Given the description of an element on the screen output the (x, y) to click on. 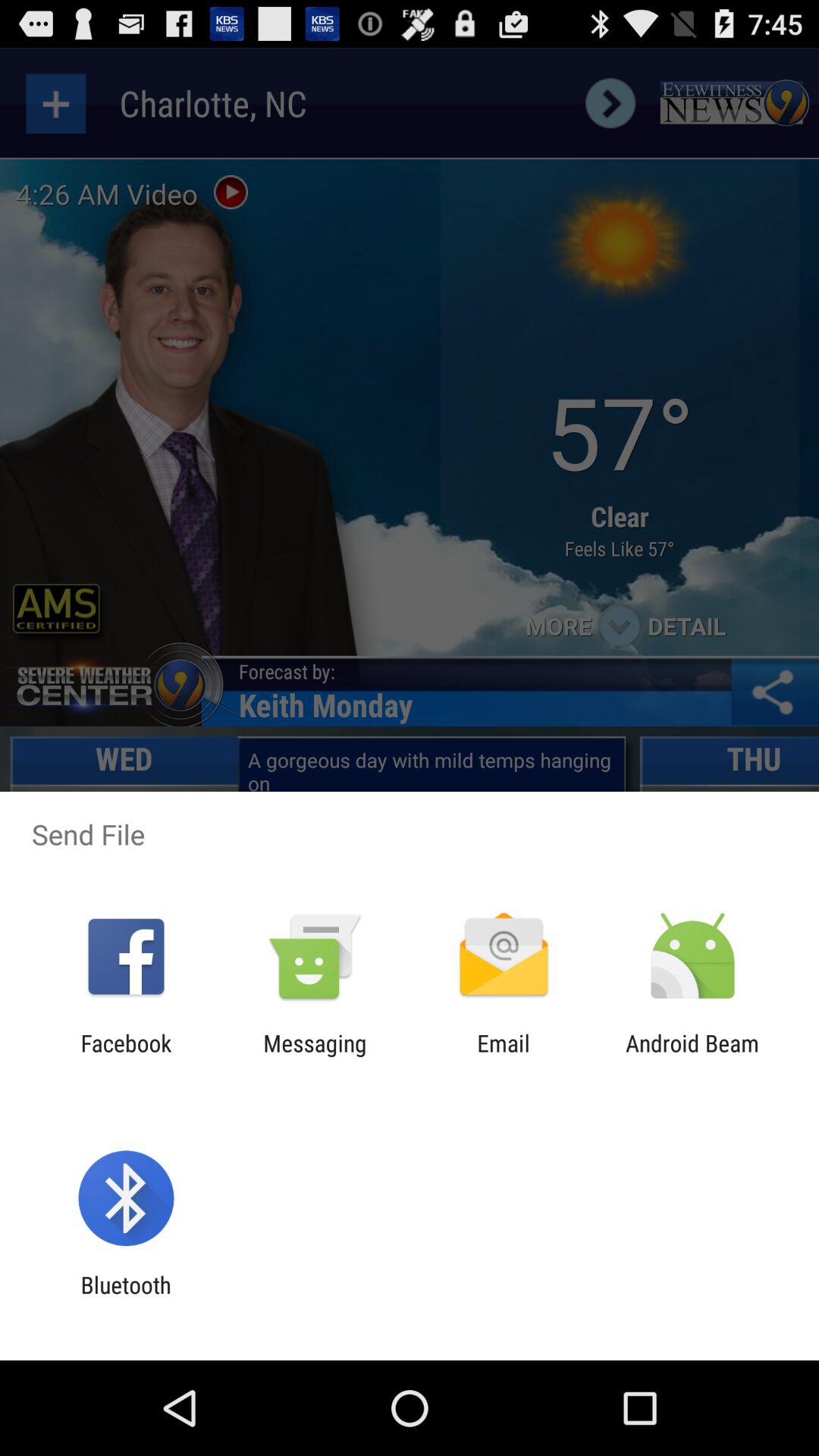
launch app to the left of the android beam icon (503, 1056)
